Given the description of an element on the screen output the (x, y) to click on. 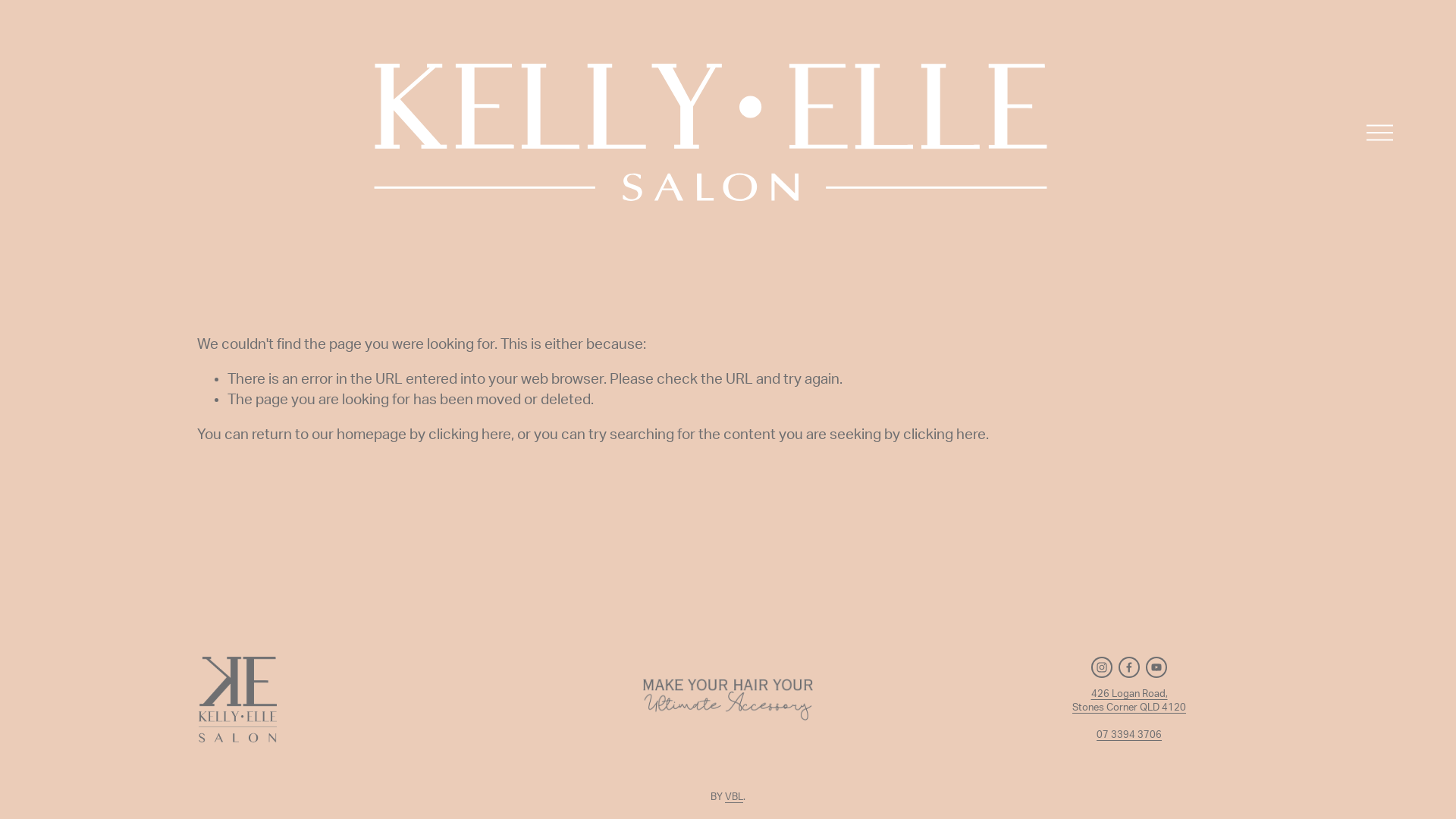
426 Logan Road,
Stones Corner QLD 4120 Element type: text (1129, 701)
clicking here Element type: text (469, 434)
clicking here Element type: text (944, 434)
Open Menu Element type: text (1379, 132)
07 3394 3706 Element type: text (1128, 735)
VBL Element type: text (733, 797)
